Given the description of an element on the screen output the (x, y) to click on. 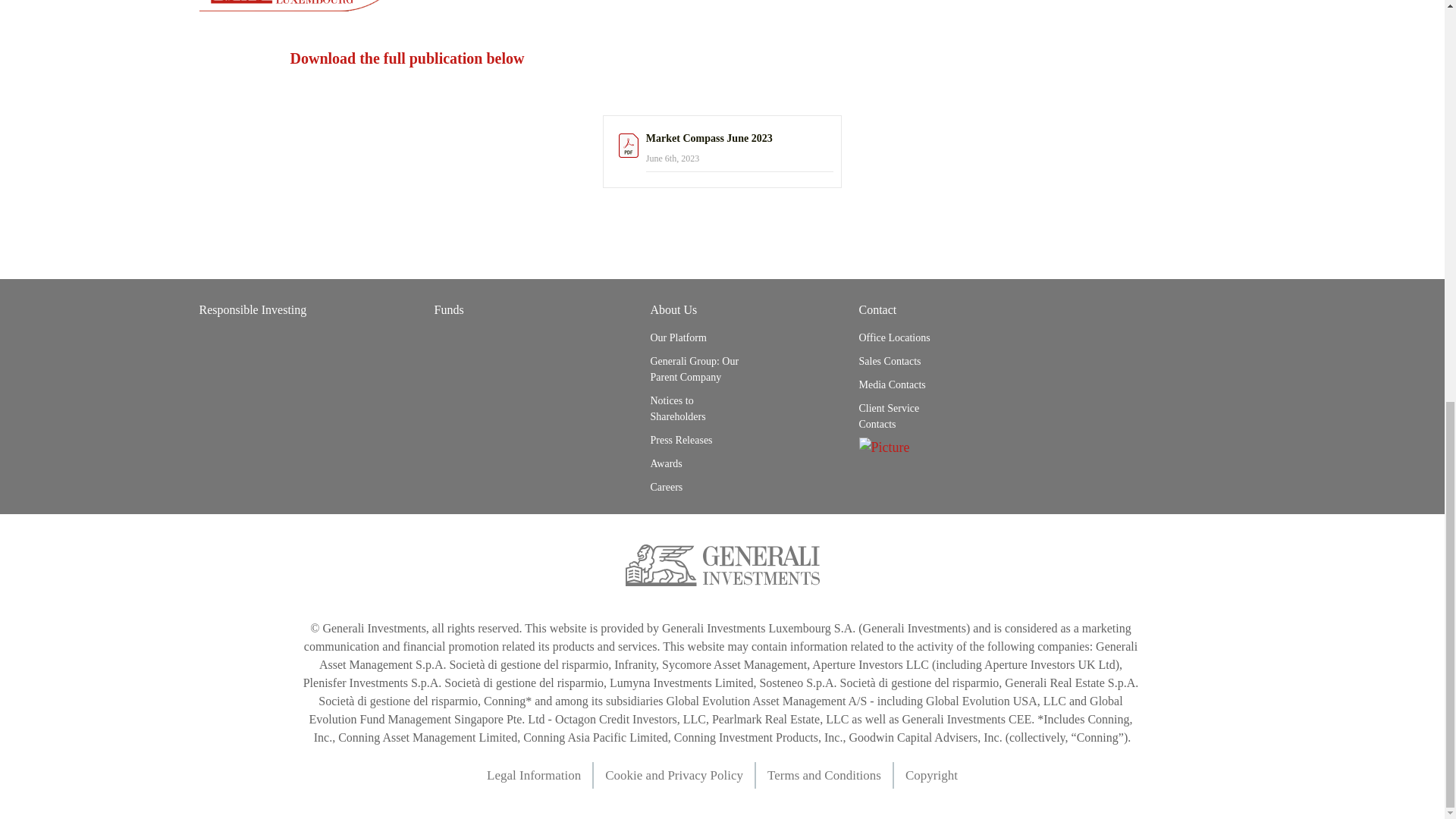
Contact (877, 309)
About Us (673, 309)
Awards (695, 463)
Careers (695, 486)
Our Platform (695, 337)
Office Locations (904, 337)
Sales Contacts (904, 361)
Generali Group: Our Parent Company (695, 369)
Press Releases (695, 440)
Funds (448, 309)
Notices to Shareholders (695, 408)
Responsible Investing (251, 309)
